Given the description of an element on the screen output the (x, y) to click on. 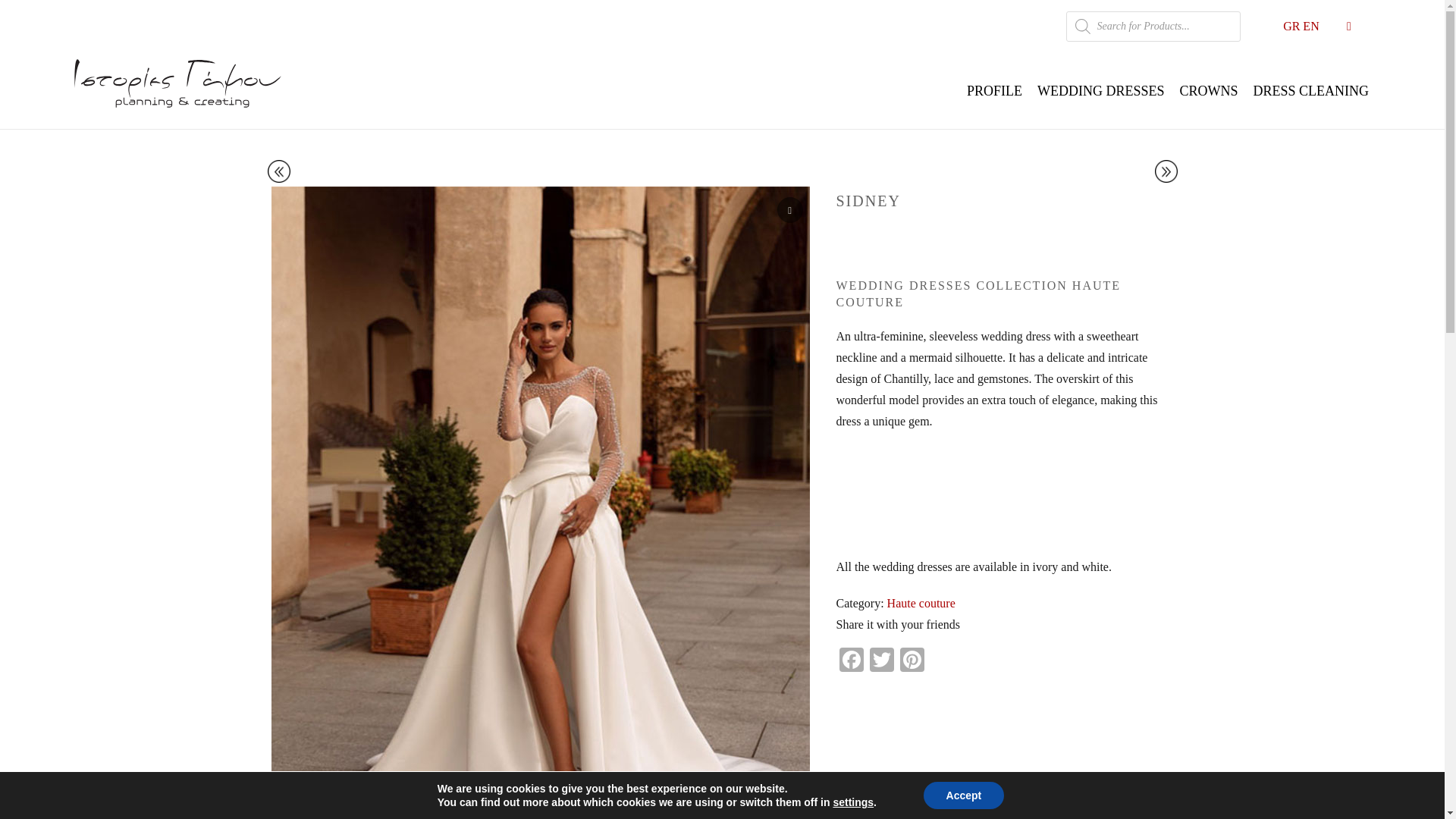
GR (1291, 25)
DRESS CLEANING (1309, 90)
PROFILE (994, 90)
WEDDING DRESSES (1100, 90)
CROWNS (1208, 90)
Pinterest (911, 661)
Haute couture (920, 603)
Twitter (881, 661)
Facebook (850, 661)
Twitter (881, 661)
Facebook (850, 661)
Pinterest (911, 661)
